Given the description of an element on the screen output the (x, y) to click on. 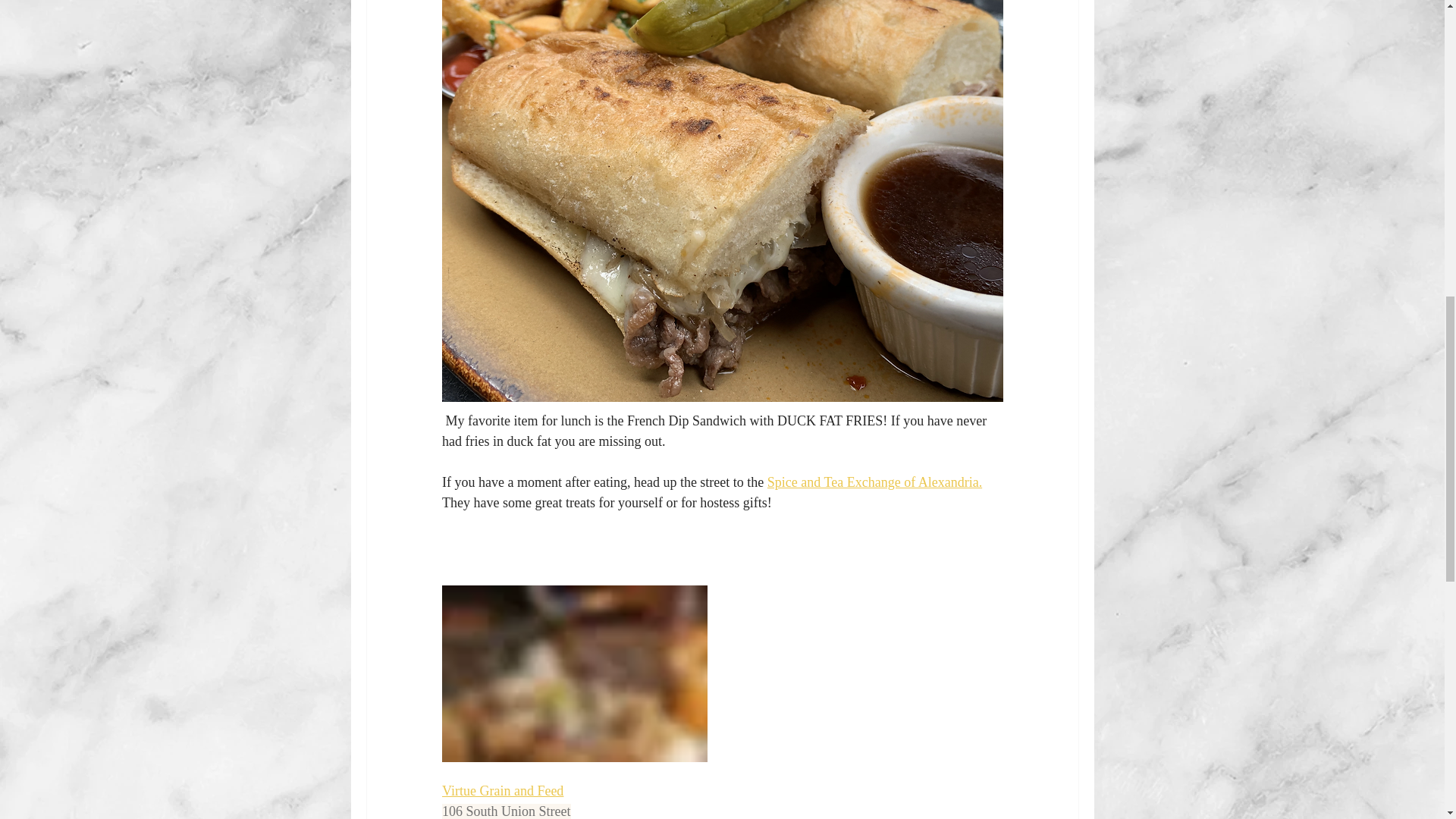
Virtue Grain and Feed (501, 790)
Spice and Tea Exchange of Alexandria. (874, 482)
